Given the description of an element on the screen output the (x, y) to click on. 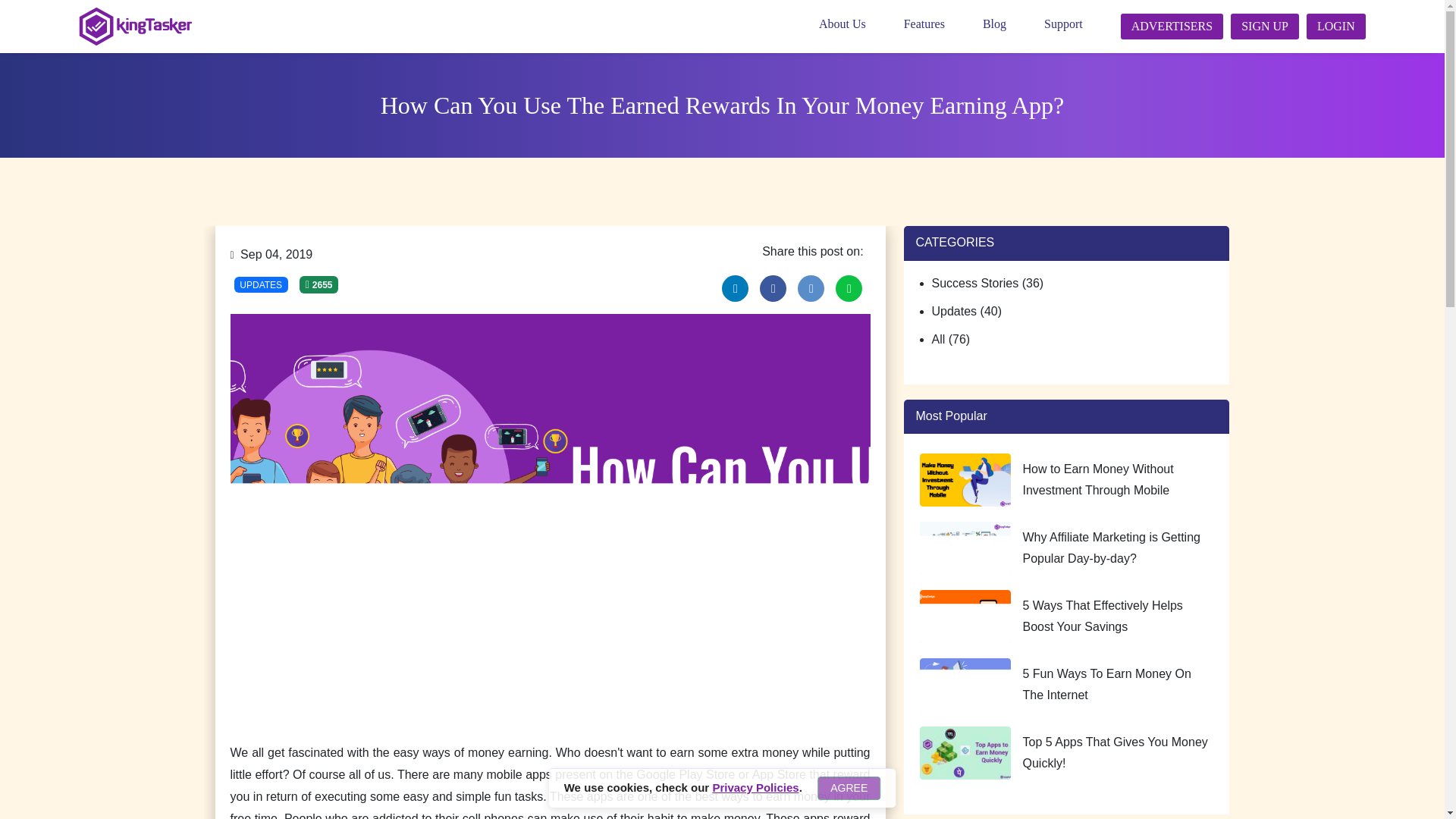
Features (939, 24)
How to Earn Money Without Investment Through Mobile (1097, 479)
Why Affiliate Marketing is Getting Popular Day-by-day? (1110, 547)
5 Ways That Effectively Helps Boost Your Savings (1102, 615)
Support (1078, 24)
UPDATES (261, 285)
Blog (1009, 24)
About Us (857, 24)
LOGIN (1335, 26)
5 Fun Ways To Earn Money On The Internet (1106, 684)
SIGN UP (1264, 26)
Top 5 Apps That Gives You Money Quickly! (1114, 752)
ADVERTISERS (1172, 26)
